Given the description of an element on the screen output the (x, y) to click on. 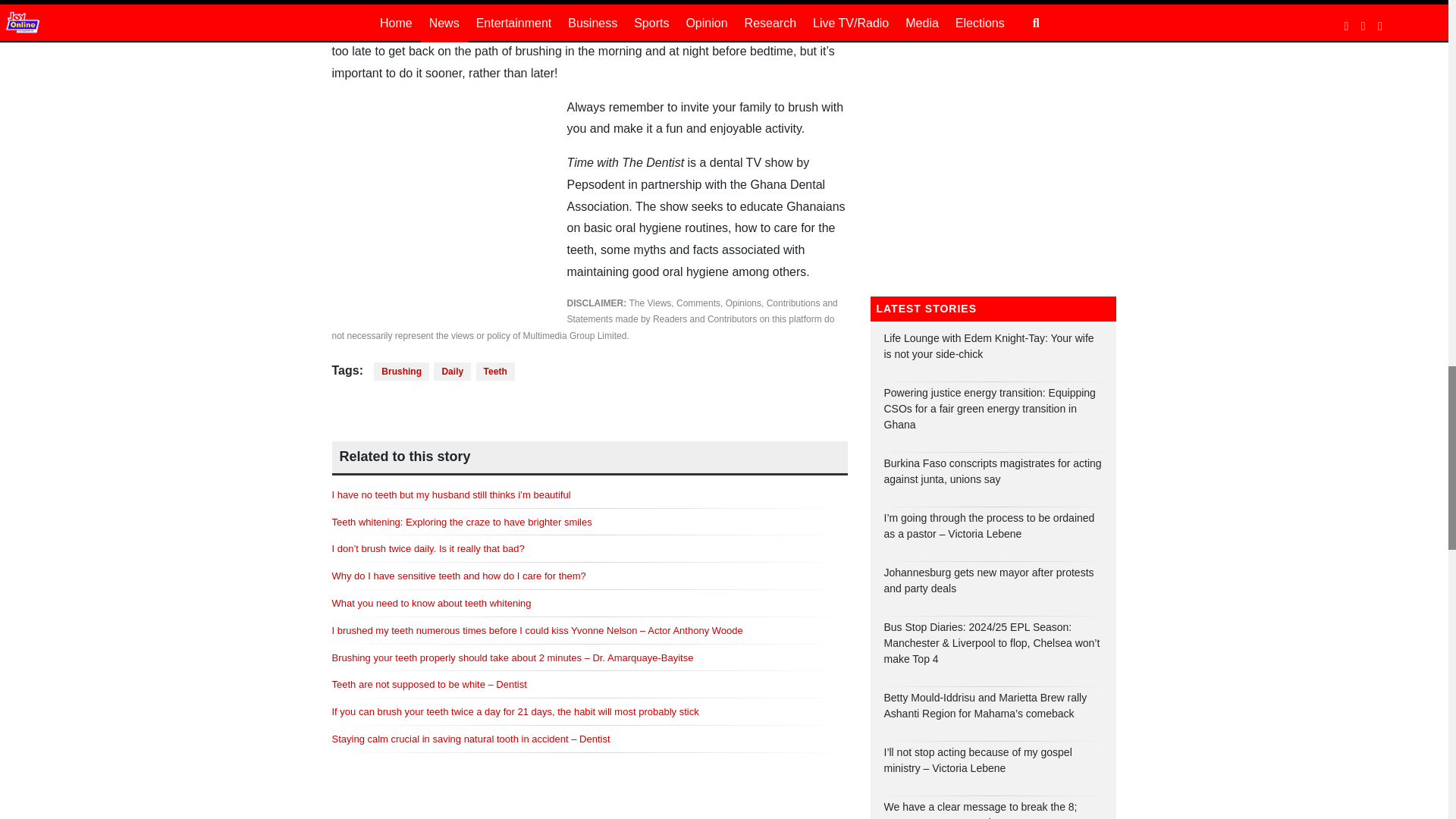
Teeth whitening: Exploring the craze to have brighter smiles (461, 521)
What you need to know about teeth whitening (431, 603)
Why do I have sensitive teeth and how do I care for them? (458, 575)
Vuukle Sharebar Widget (589, 398)
Vuukle Comments Widget (589, 813)
